Given the description of an element on the screen output the (x, y) to click on. 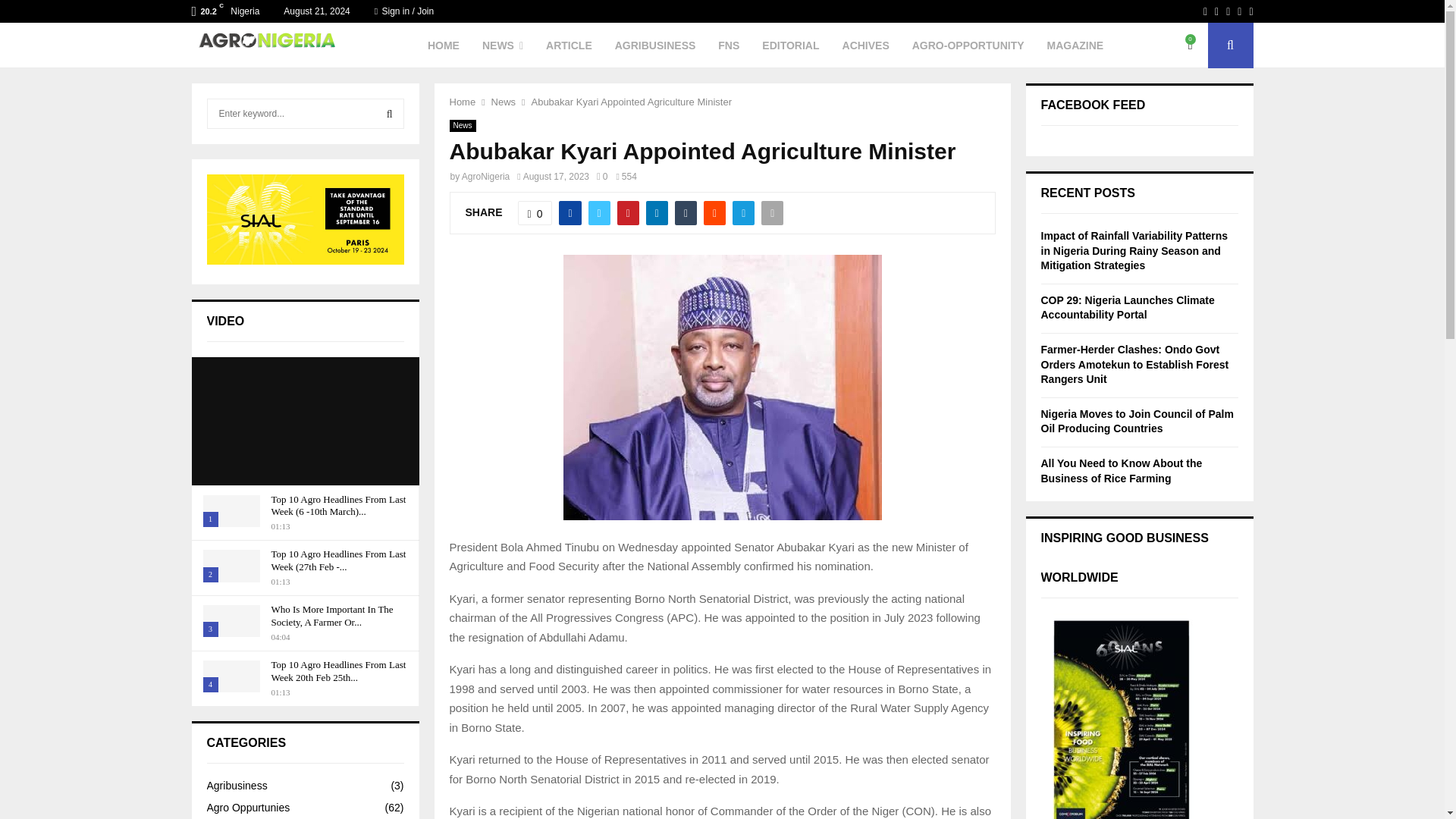
Abubakar Kyari Appointed Agriculture Minister (630, 101)
News (504, 101)
NEWS (501, 44)
News (462, 125)
AGRO-OPPORTUNITY (968, 44)
ACHIVES (866, 44)
AgroNigeria (485, 176)
Login to your account (722, 387)
AGRIBUSINESS (654, 44)
EDITORIAL (789, 44)
